Given the description of an element on the screen output the (x, y) to click on. 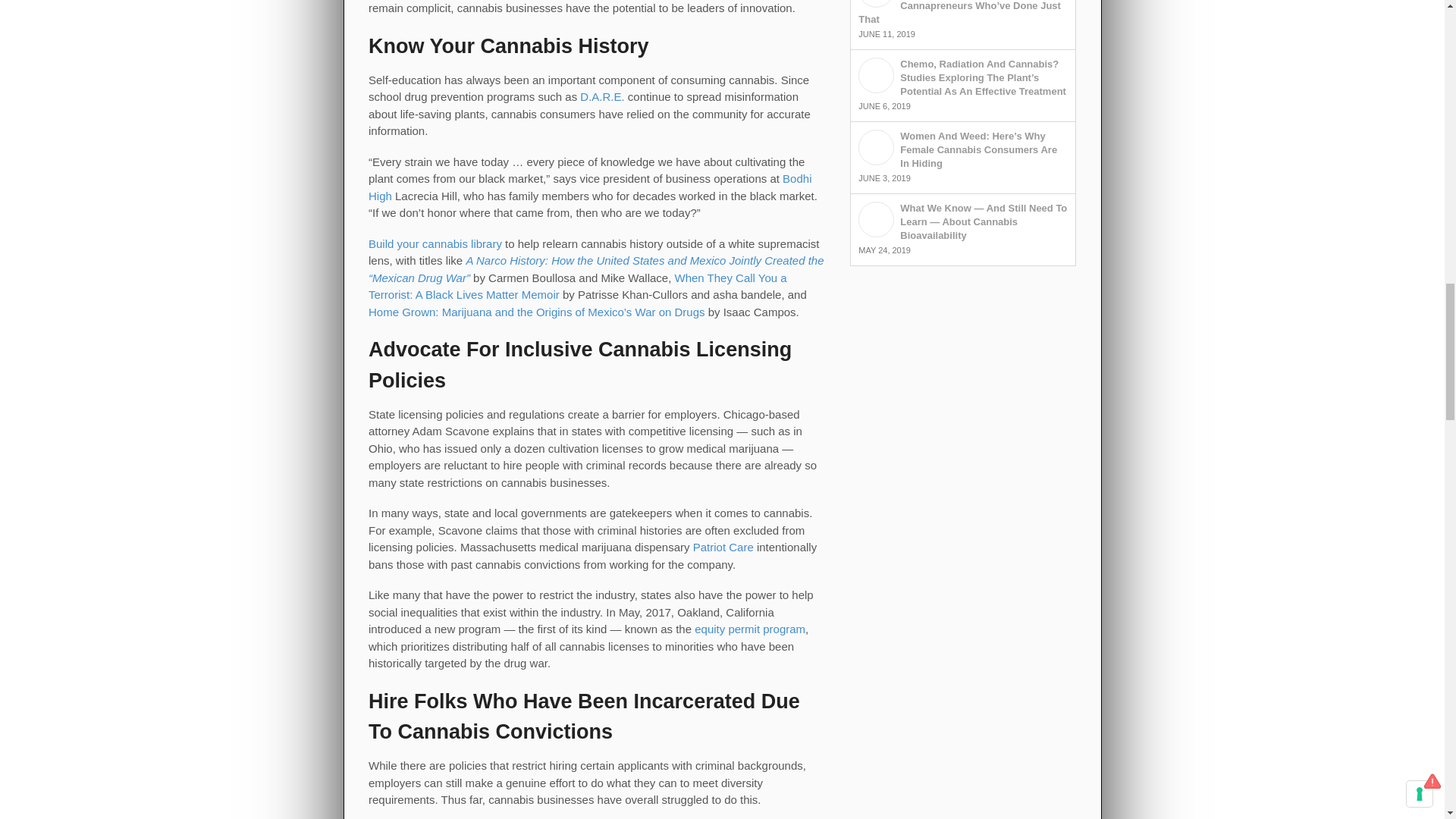
Build your cannabis library (435, 243)
Bodhi High (589, 186)
When They Call You a Terrorist: A Black Lives Matter Memoir (577, 286)
D.A.R.E. (601, 96)
